Given the description of an element on the screen output the (x, y) to click on. 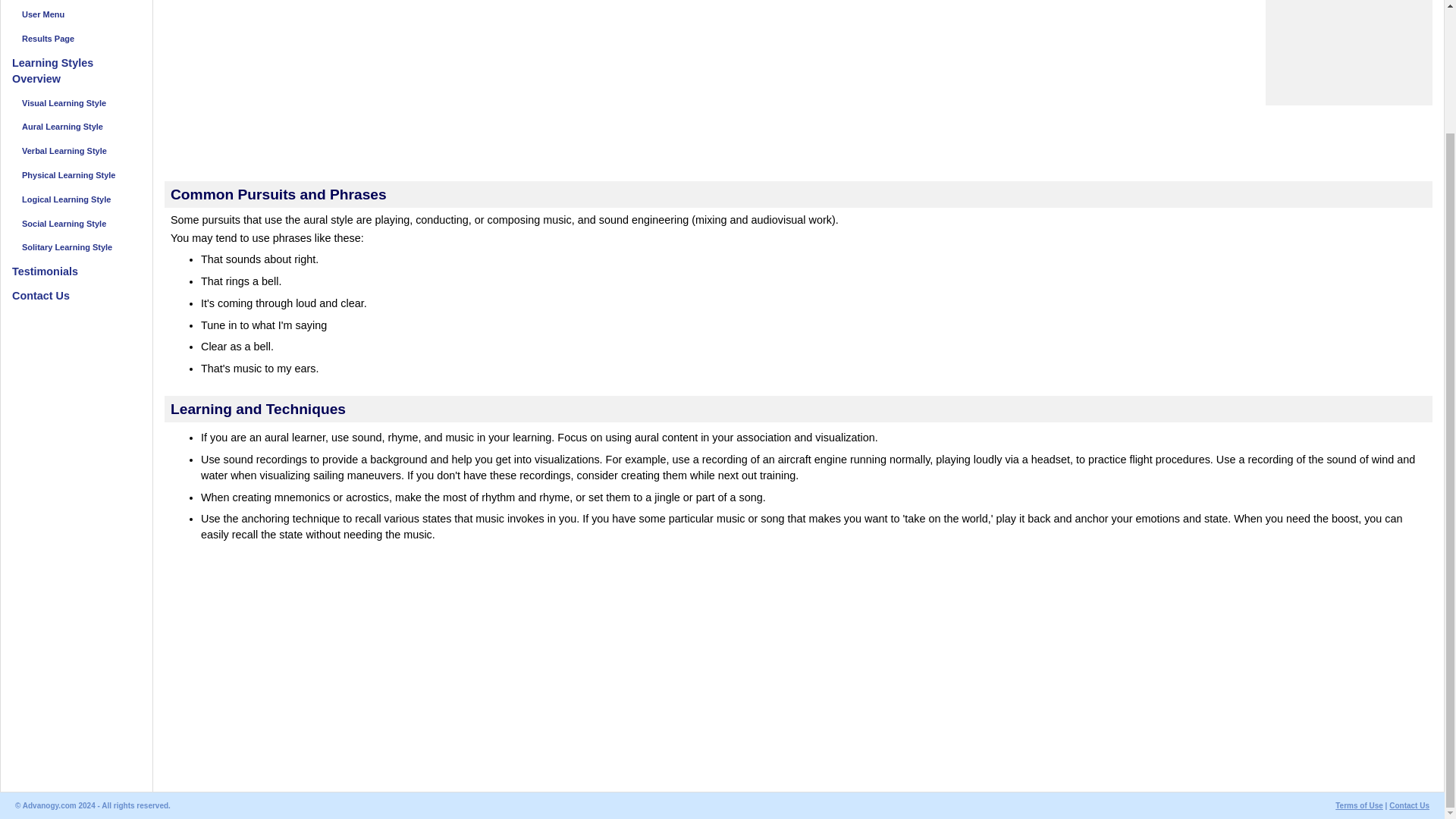
Social Learning Style (76, 223)
Contact Us (1409, 805)
Overview of learning styles (76, 71)
Logical Learning Style (76, 199)
Terms of Use (1359, 805)
Aural Learning Style (76, 127)
Results Page (76, 38)
Learning Styles Inventory (76, 0)
Solitary Learning Style (76, 247)
User Menu (76, 14)
Learning Styles Overview (76, 71)
Physical Learning Style (76, 175)
Testimonials (76, 271)
How to contact us (76, 295)
Contact Us (76, 295)
